Given the description of an element on the screen output the (x, y) to click on. 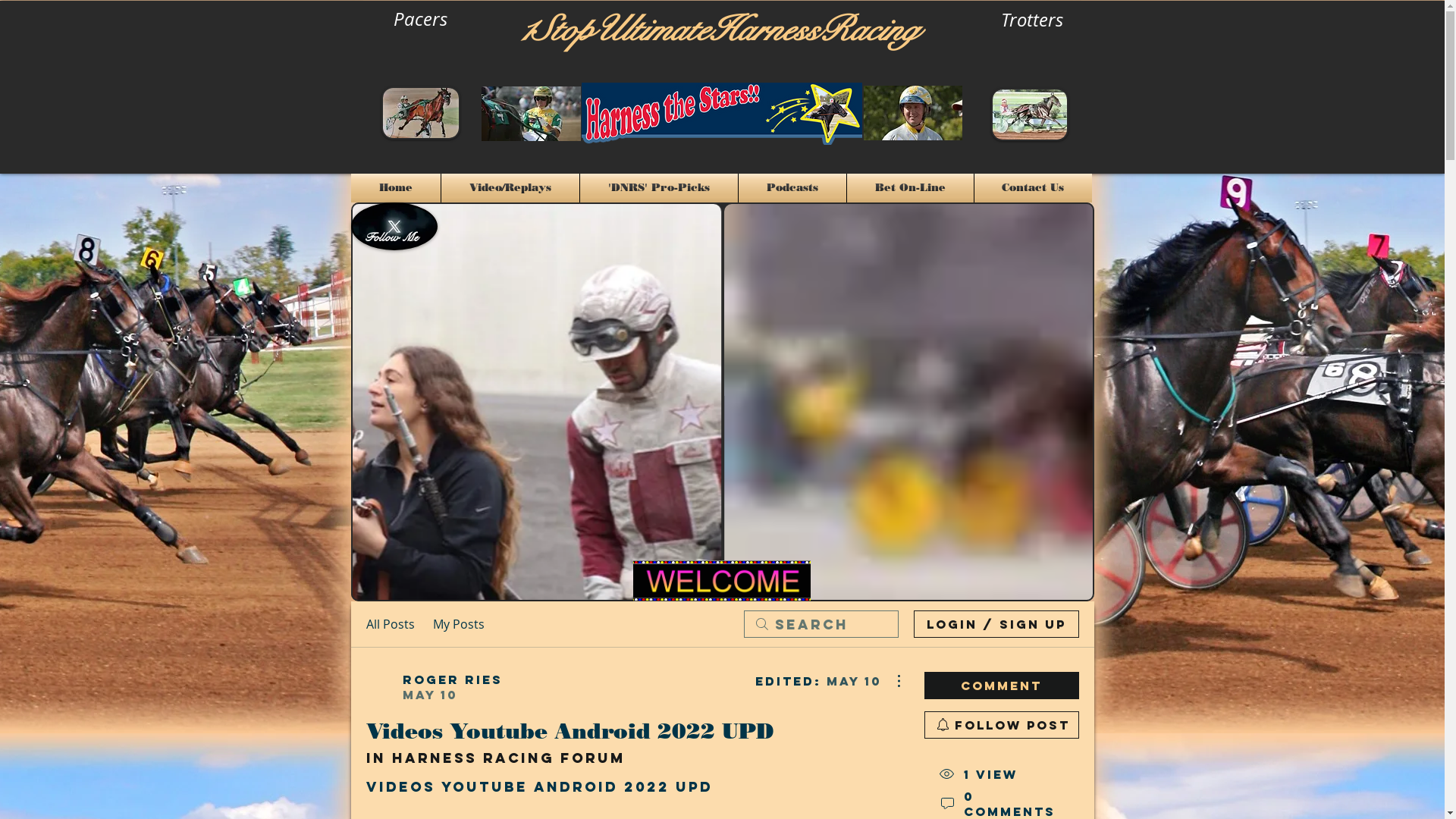
'DNRS' Pro-Picks Element type: text (658, 187)
Video/Replays Element type: text (510, 187)
Login / Sign up Element type: text (995, 623)
Home Element type: text (394, 187)
Contact Us Element type: text (1032, 187)
Follow Post Element type: text (1000, 724)
My Posts Element type: text (457, 624)
Bet On-Line Element type: text (909, 187)
Podcasts Element type: text (792, 187)
All Posts Element type: text (389, 624)
in Harness Racing Forum Element type: text (494, 757)
Comment Element type: text (1000, 685)
